Given the description of an element on the screen output the (x, y) to click on. 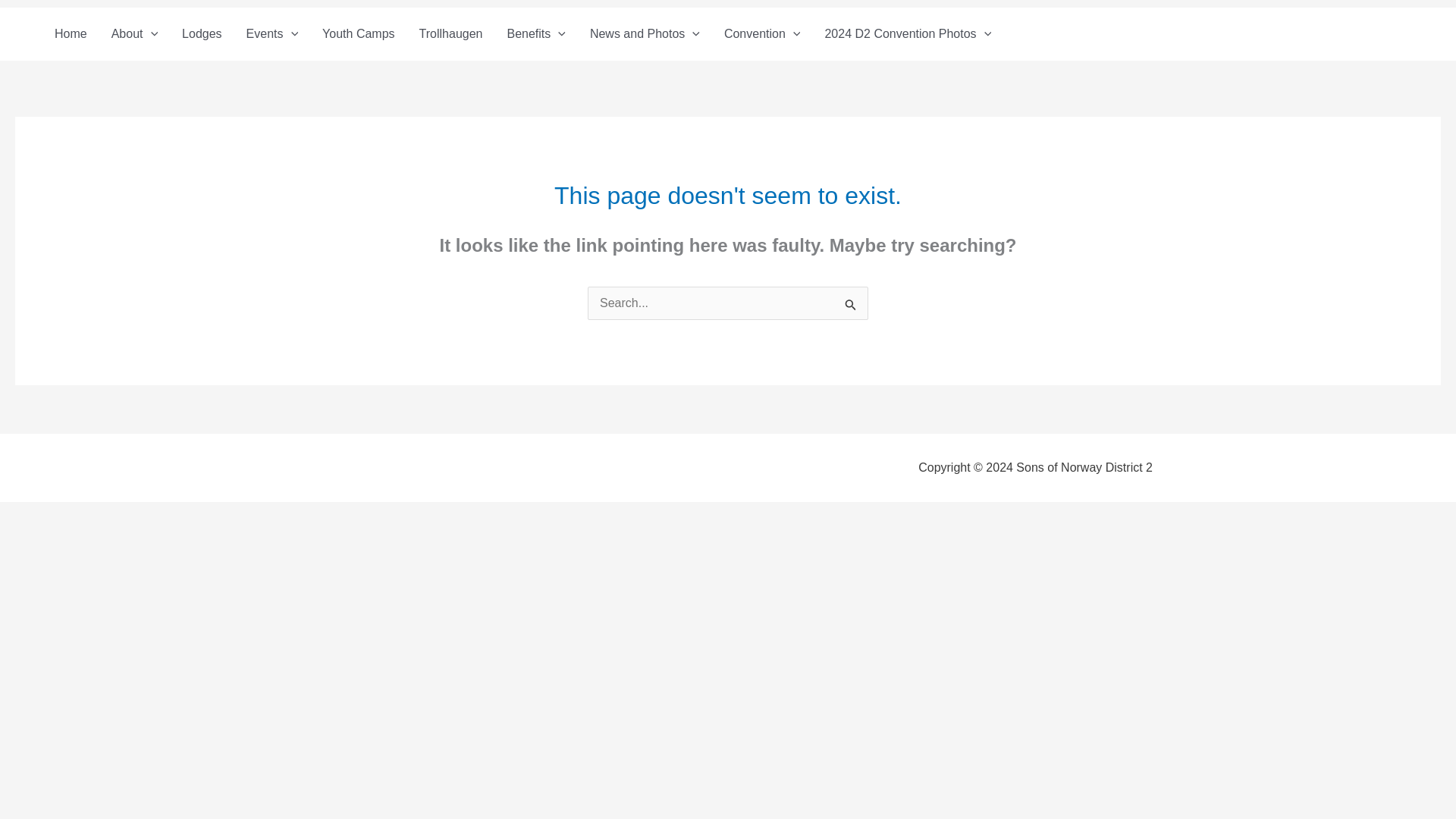
News and Photos (644, 33)
Trollhaugen (451, 33)
Events (272, 33)
Convention (761, 33)
Youth Camps (358, 33)
About (134, 33)
Lodges (202, 33)
Home (70, 33)
Benefits (535, 33)
